Given the description of an element on the screen output the (x, y) to click on. 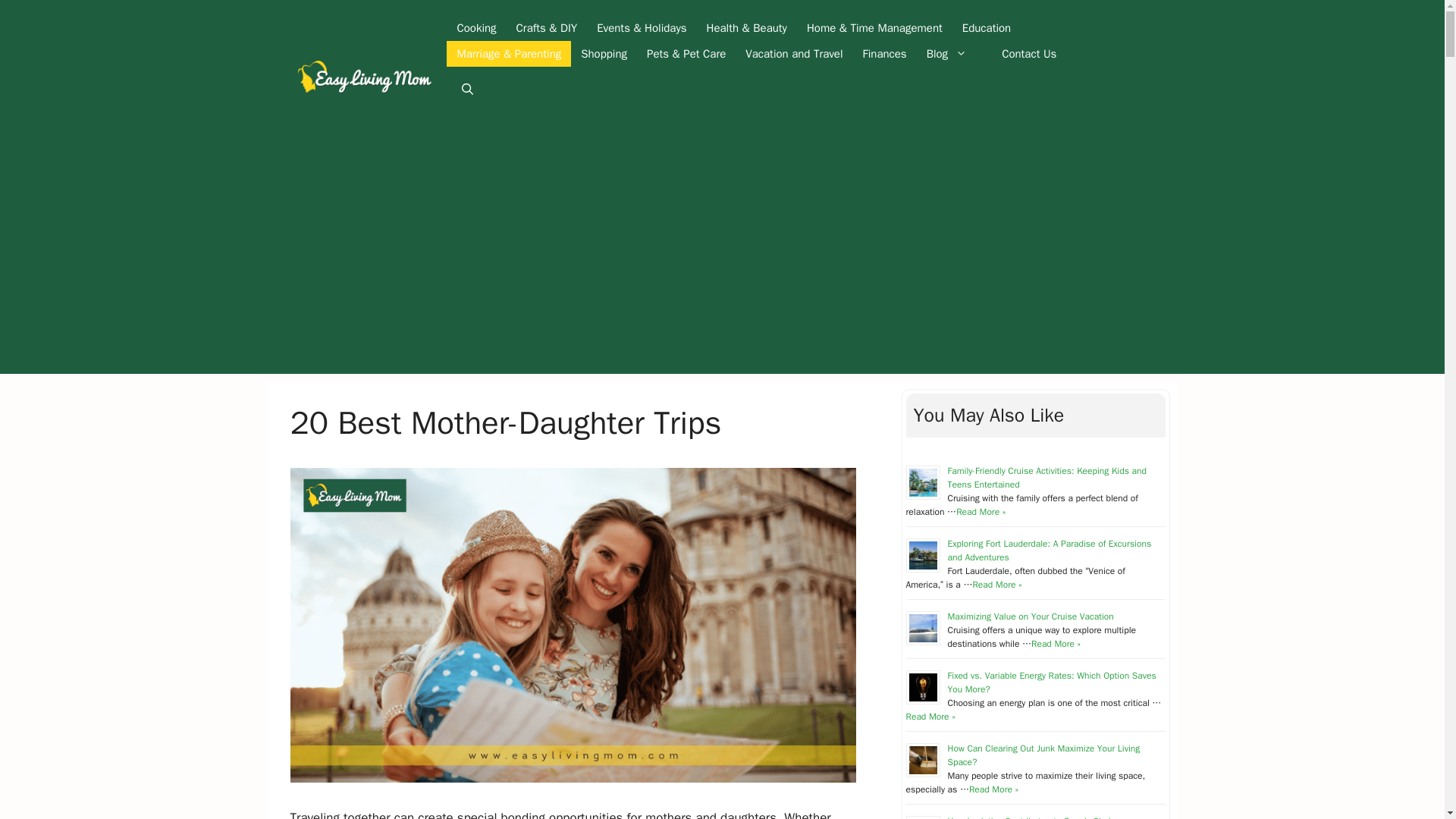
Shopping (603, 53)
Blog (954, 53)
Education (986, 27)
Vacation and Travel (793, 53)
Cooking (475, 27)
Finances (885, 53)
